Given the description of an element on the screen output the (x, y) to click on. 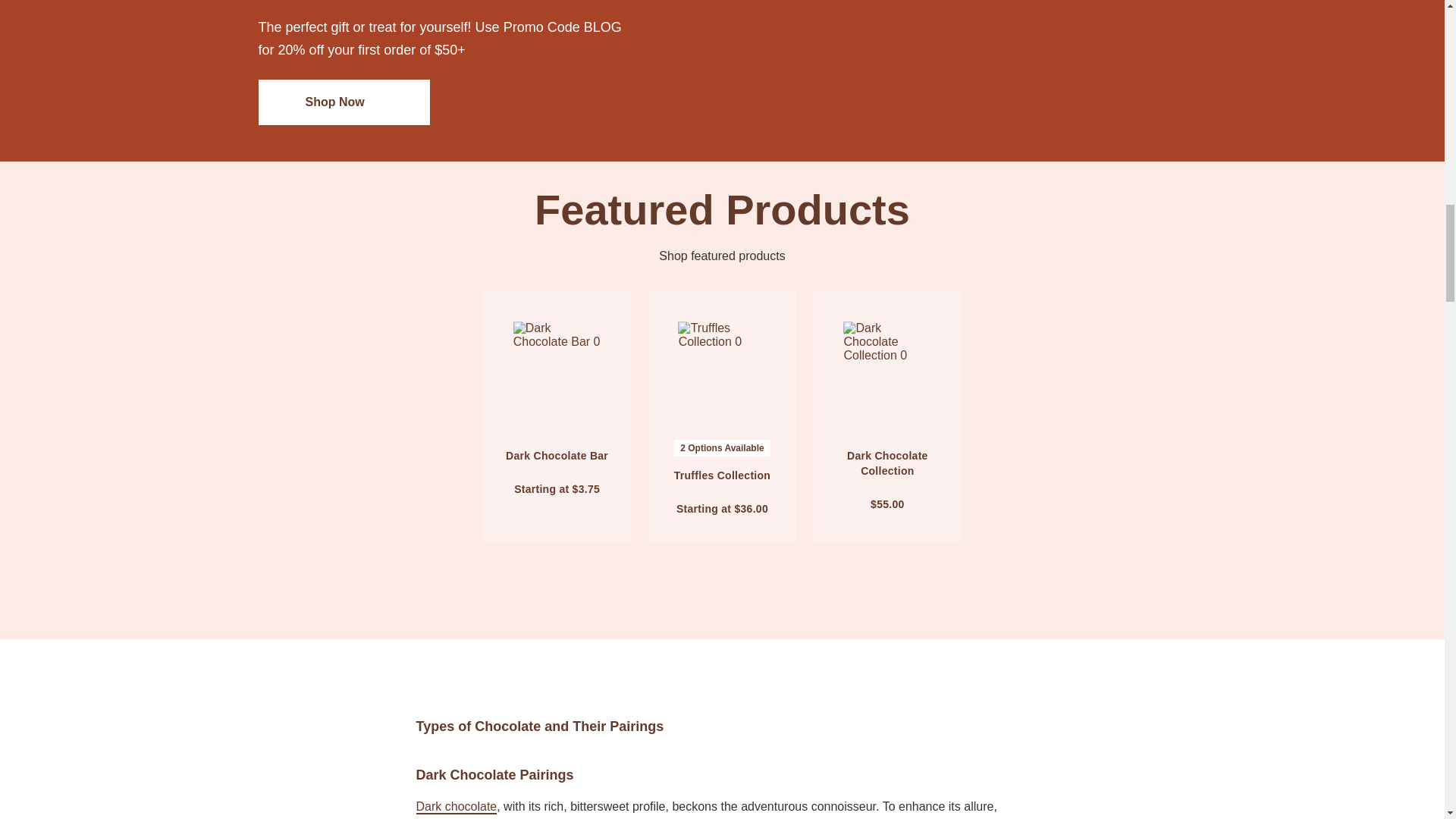
Sign In to Account (939, 312)
Sign In to Account (775, 312)
Sign In to Account (609, 312)
